Given the description of an element on the screen output the (x, y) to click on. 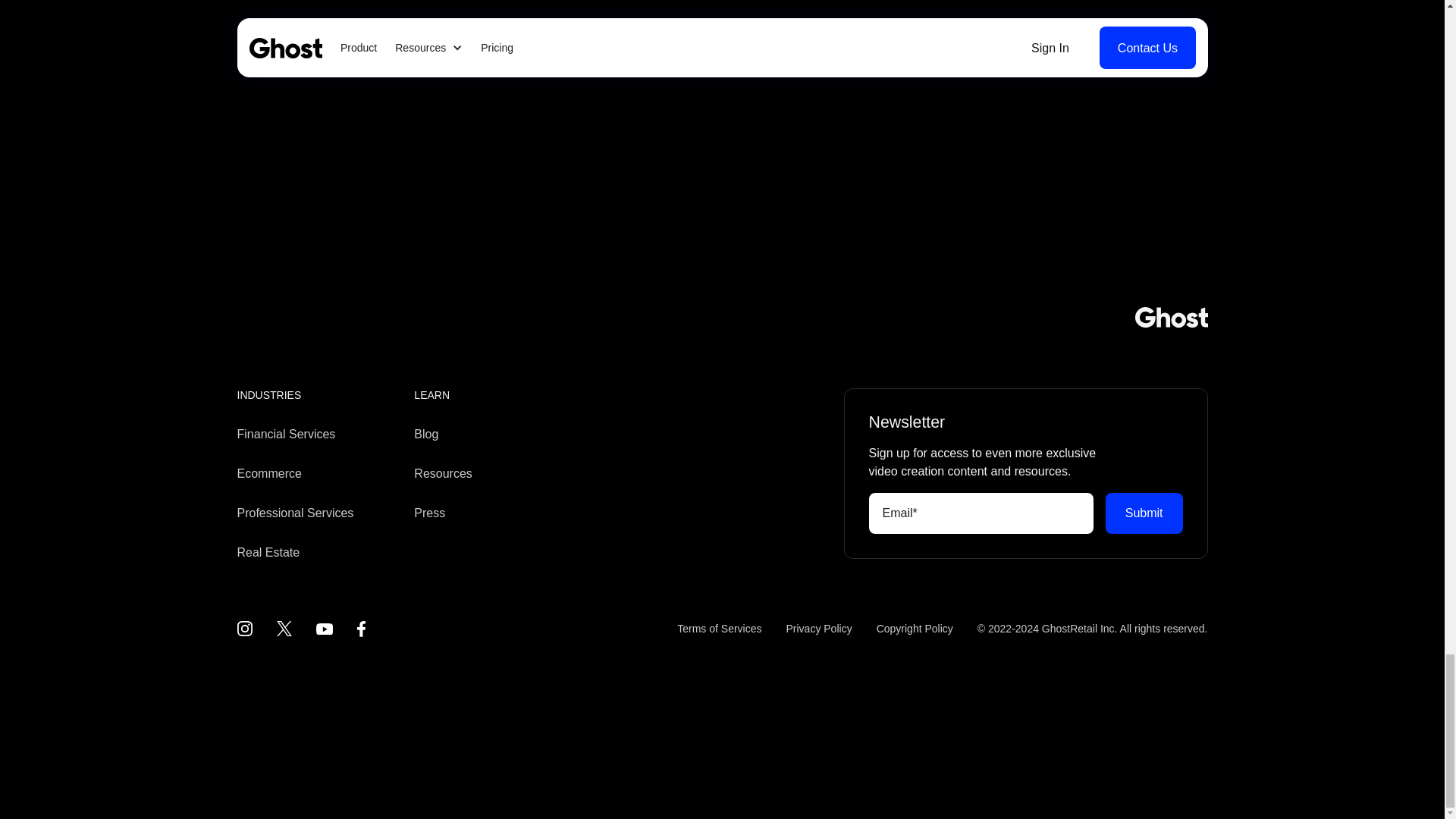
Terms of Services (719, 628)
Submit (1143, 513)
Press (429, 513)
Real Estate (267, 552)
Ecommerce (268, 473)
Financial Services (284, 434)
Resources (442, 473)
Professional Services (294, 513)
Submit (1143, 513)
Privacy Policy (818, 628)
